Given the description of an element on the screen output the (x, y) to click on. 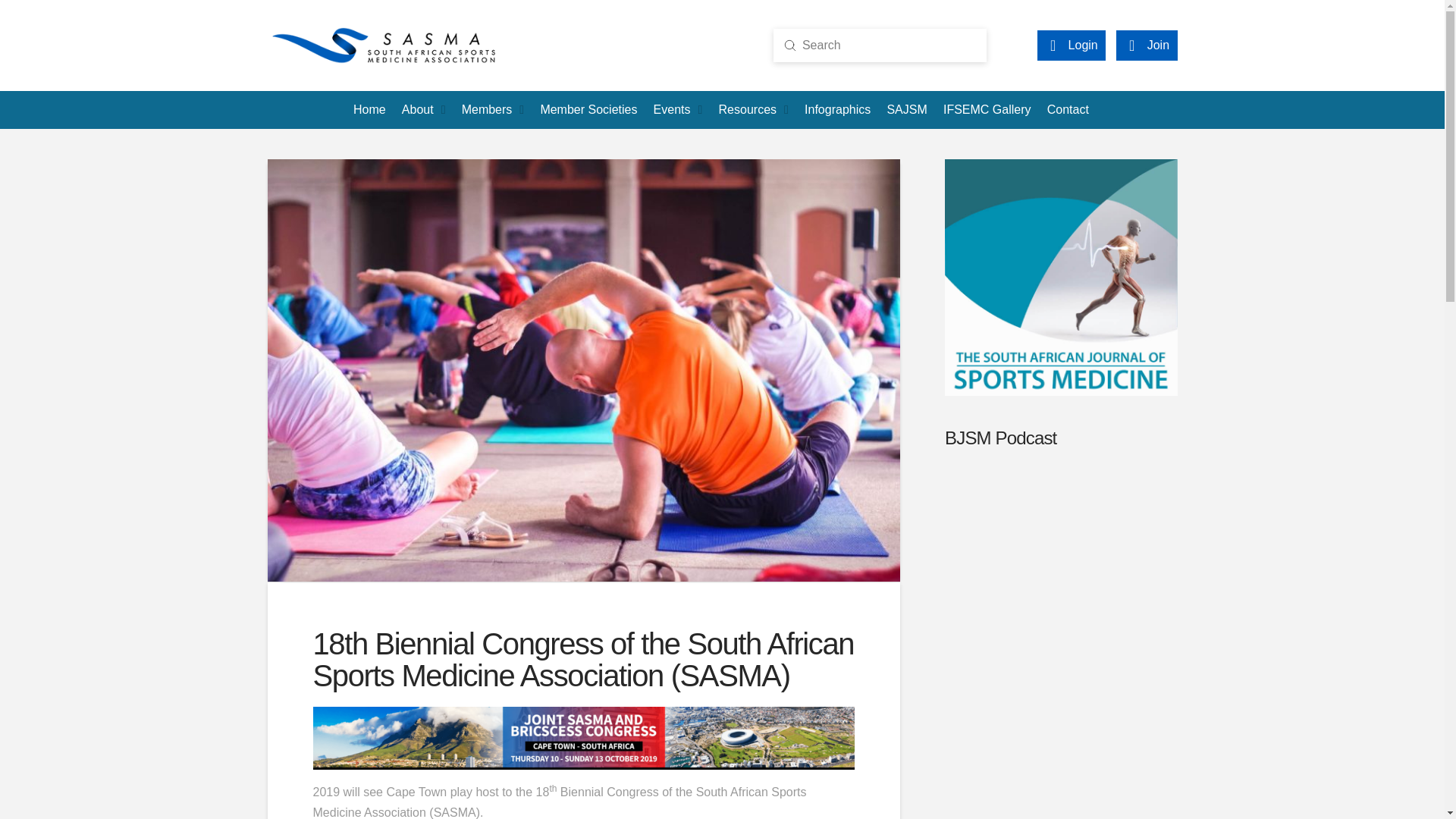
Submit (790, 45)
Resources (752, 109)
Infographics (837, 109)
Contact (1068, 109)
About (423, 109)
Members (492, 109)
IFSEMC Gallery (987, 109)
Events (678, 109)
Home (369, 109)
Login (1070, 45)
